Given the description of an element on the screen output the (x, y) to click on. 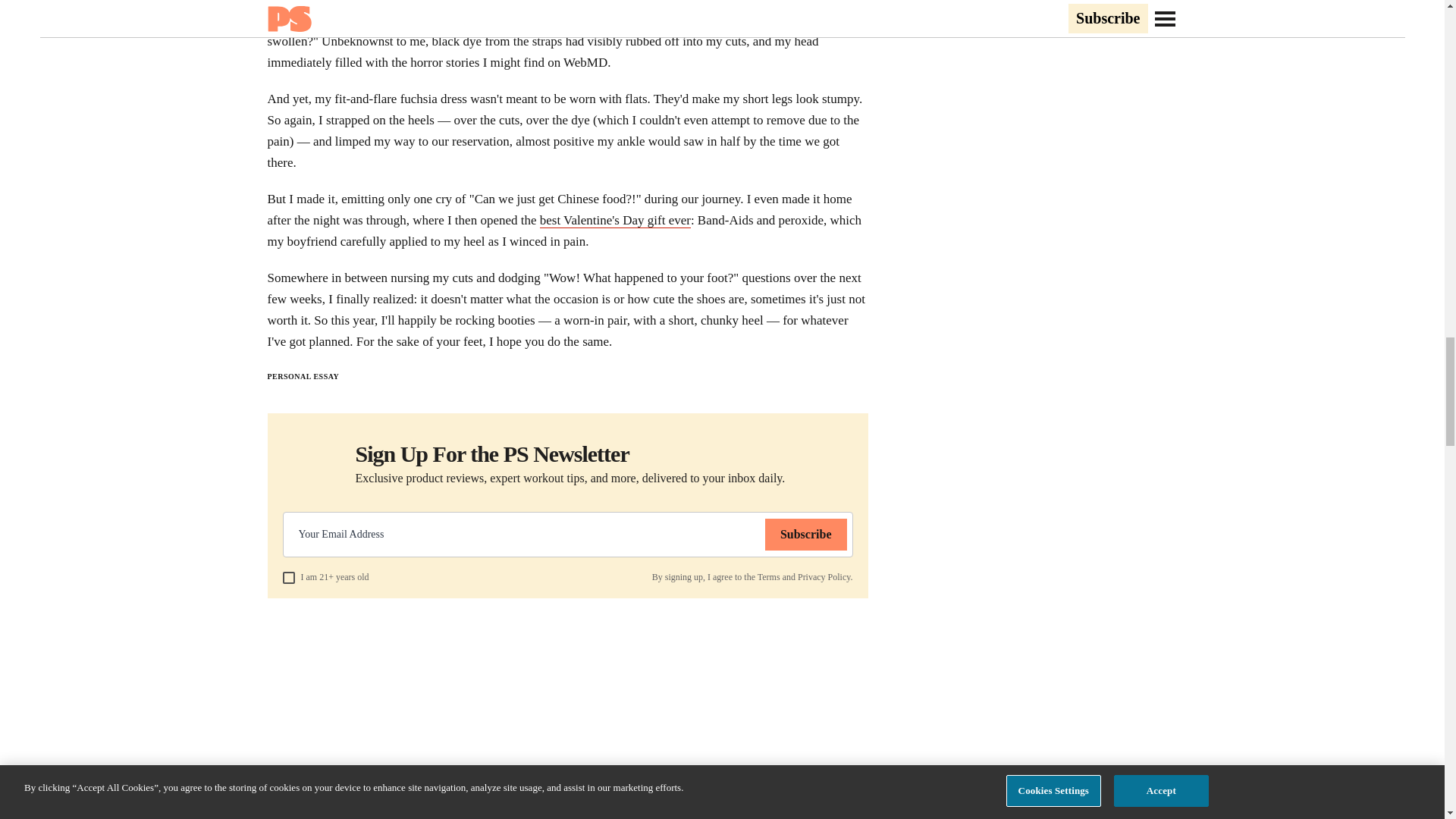
Subscribe (806, 534)
PERSONAL ESSAY (302, 376)
Privacy Policy. (825, 576)
best Valentine's Day gift ever (615, 220)
Terms (768, 576)
